Given the description of an element on the screen output the (x, y) to click on. 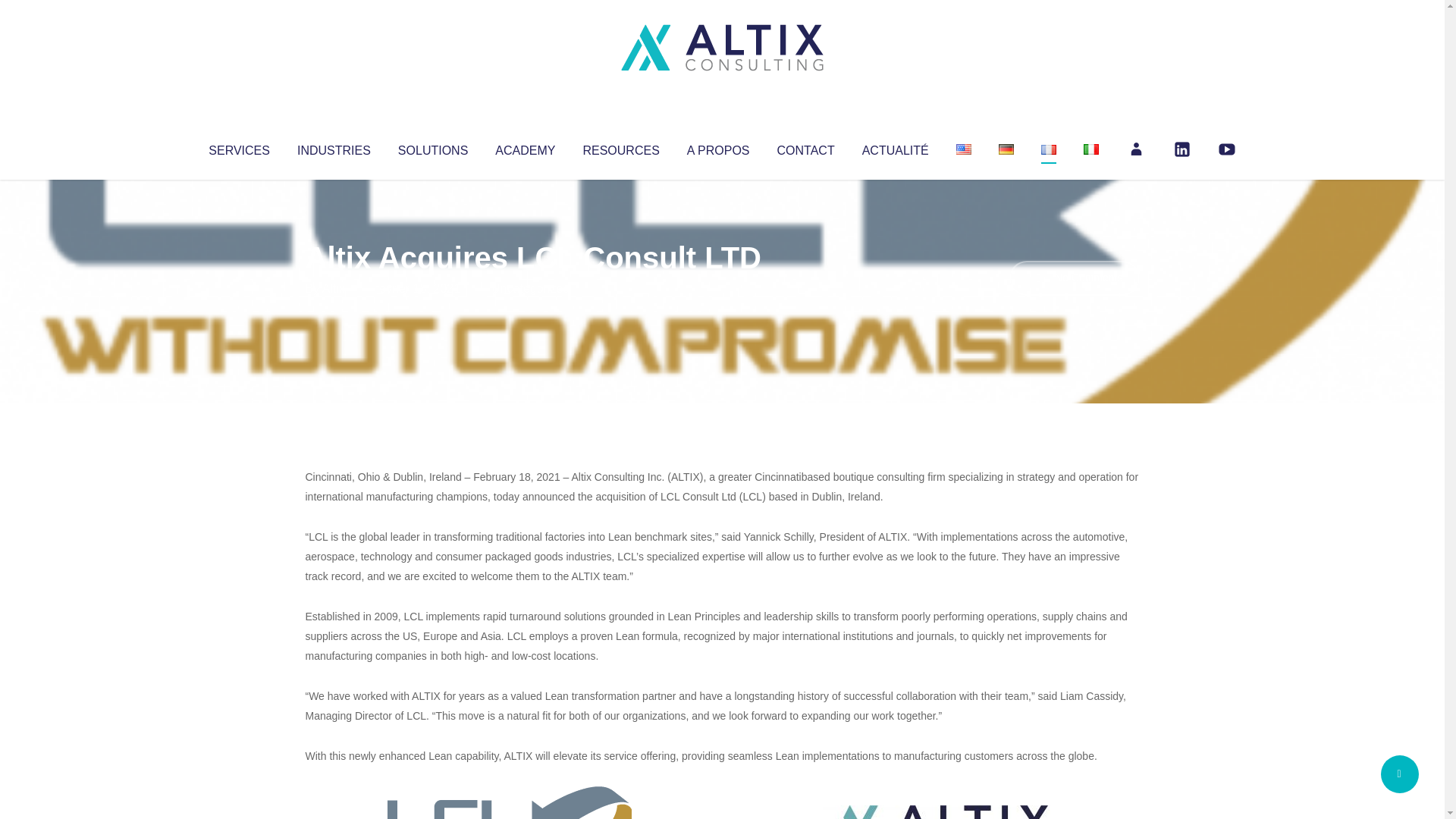
Articles par Altix (333, 287)
Altix (333, 287)
SERVICES (238, 146)
RESOURCES (620, 146)
No Comments (1073, 278)
SOLUTIONS (432, 146)
INDUSTRIES (334, 146)
A PROPOS (718, 146)
Uncategorized (530, 287)
ACADEMY (524, 146)
